Given the description of an element on the screen output the (x, y) to click on. 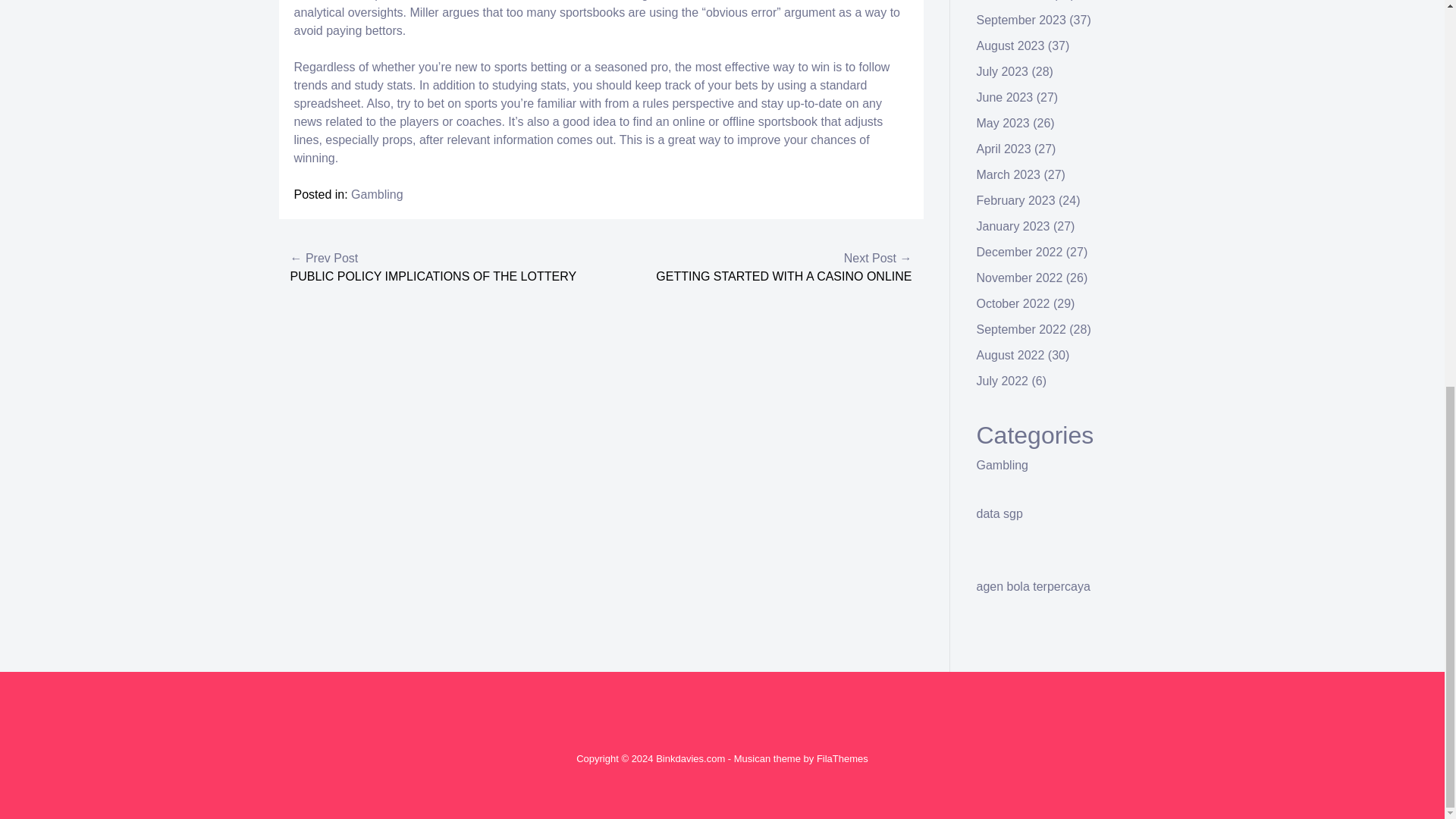
October 2022 (1012, 303)
July 2023 (1002, 71)
February 2023 (1015, 200)
August 2023 (1010, 45)
August 2022 (1010, 354)
January 2023 (1012, 226)
December 2022 (1019, 251)
Gambling (1001, 464)
May 2023 (1002, 123)
Binkdavies.com (690, 758)
